Given the description of an element on the screen output the (x, y) to click on. 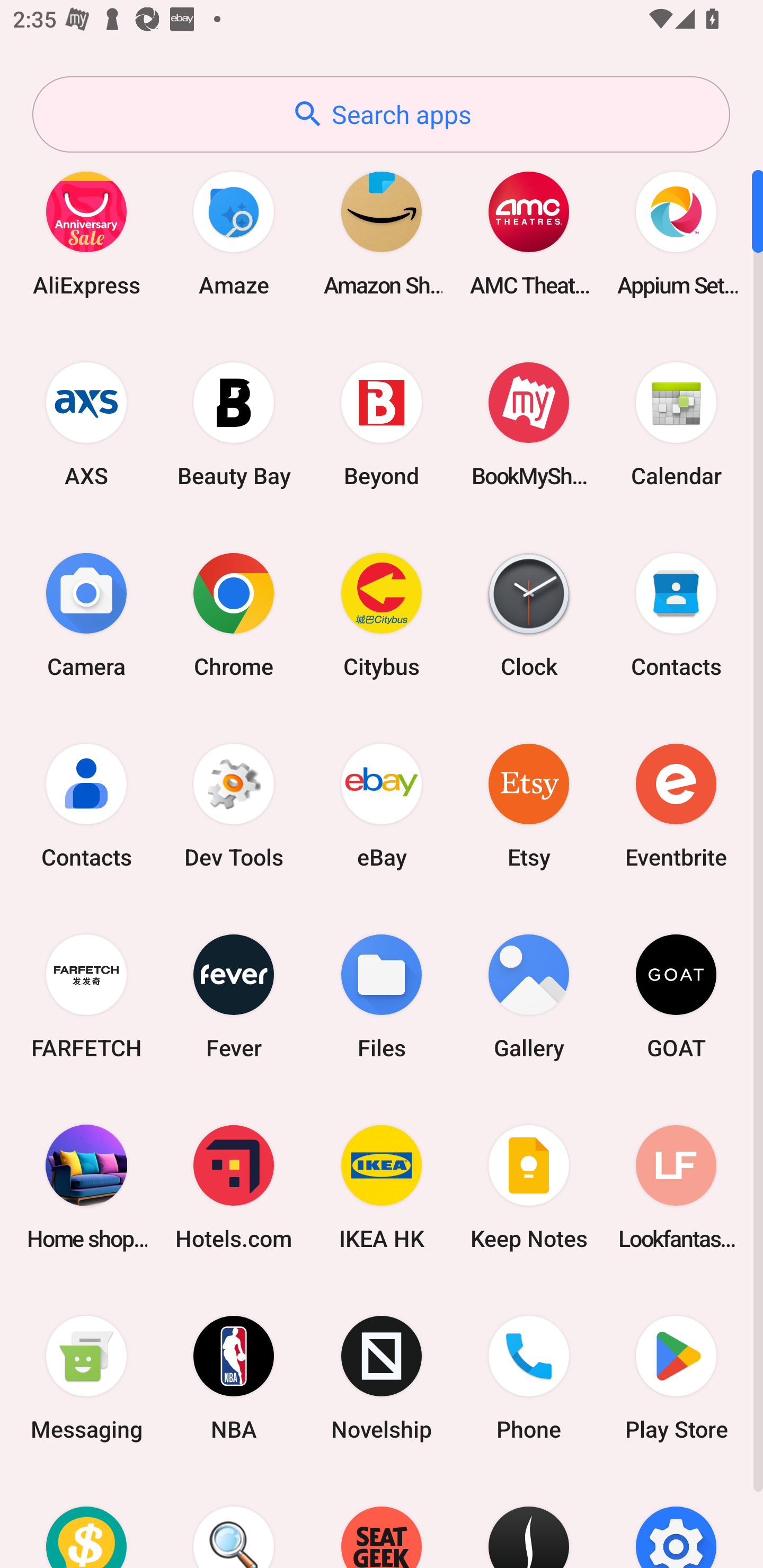
  Search apps (381, 114)
AliExpress (86, 233)
Amaze (233, 233)
Amazon Shopping (381, 233)
AMC Theatres (528, 233)
Appium Settings (676, 233)
AXS (86, 424)
Beauty Bay (233, 424)
Beyond (381, 424)
BookMyShow (528, 424)
Calendar (676, 424)
Camera (86, 614)
Chrome (233, 614)
Citybus (381, 614)
Clock (528, 614)
Contacts (676, 614)
Contacts (86, 805)
Dev Tools (233, 805)
eBay (381, 805)
Etsy (528, 805)
Eventbrite (676, 805)
FARFETCH (86, 996)
Fever (233, 996)
Files (381, 996)
Gallery (528, 996)
GOAT (676, 996)
Home shopping (86, 1186)
Hotels.com (233, 1186)
IKEA HK (381, 1186)
Keep Notes (528, 1186)
Lookfantastic (676, 1186)
Messaging (86, 1377)
NBA (233, 1377)
Novelship (381, 1377)
Phone (528, 1377)
Play Store (676, 1377)
